Given the description of an element on the screen output the (x, y) to click on. 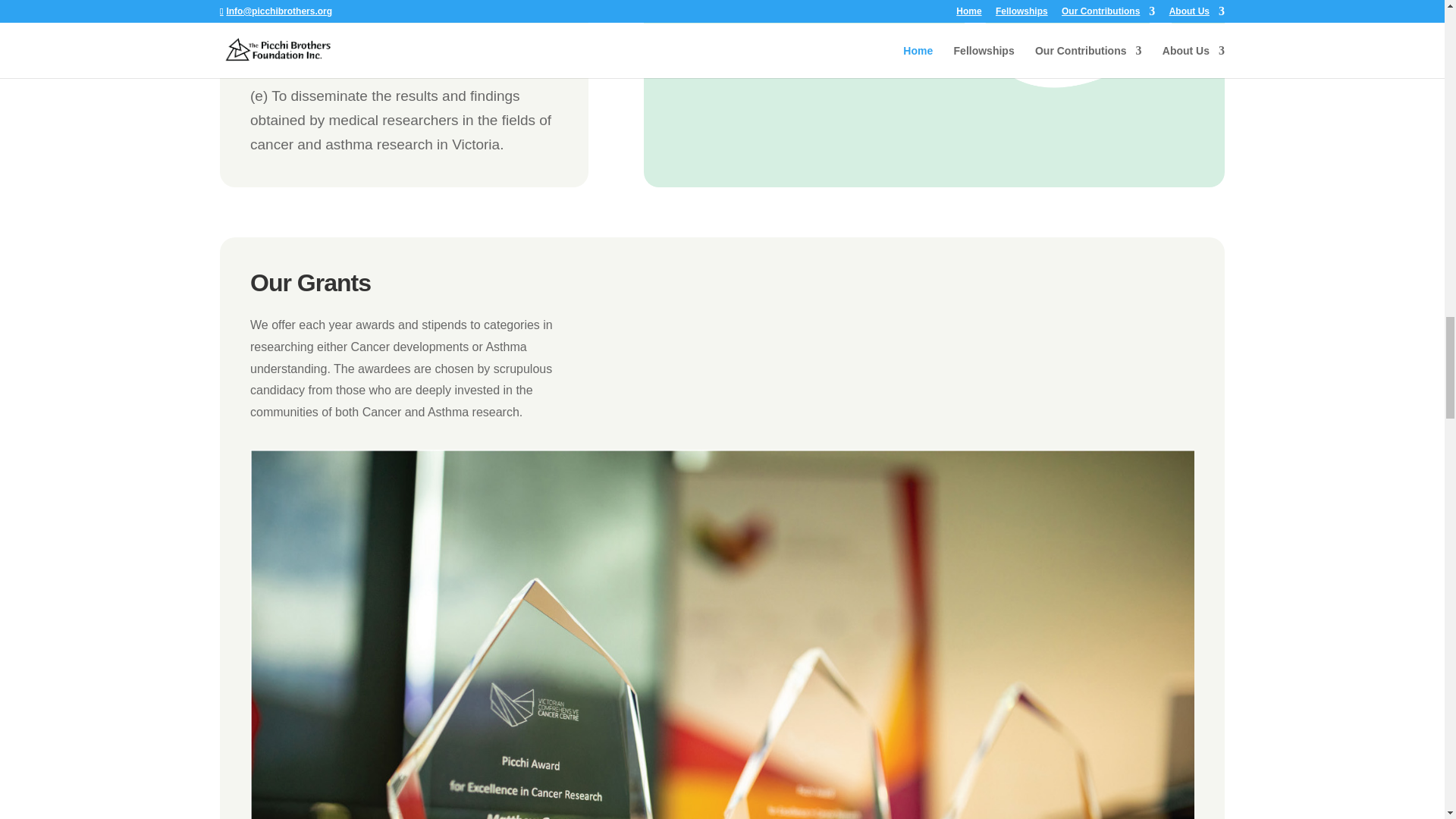
senior-care-13 (985, 43)
